Given the description of an element on the screen output the (x, y) to click on. 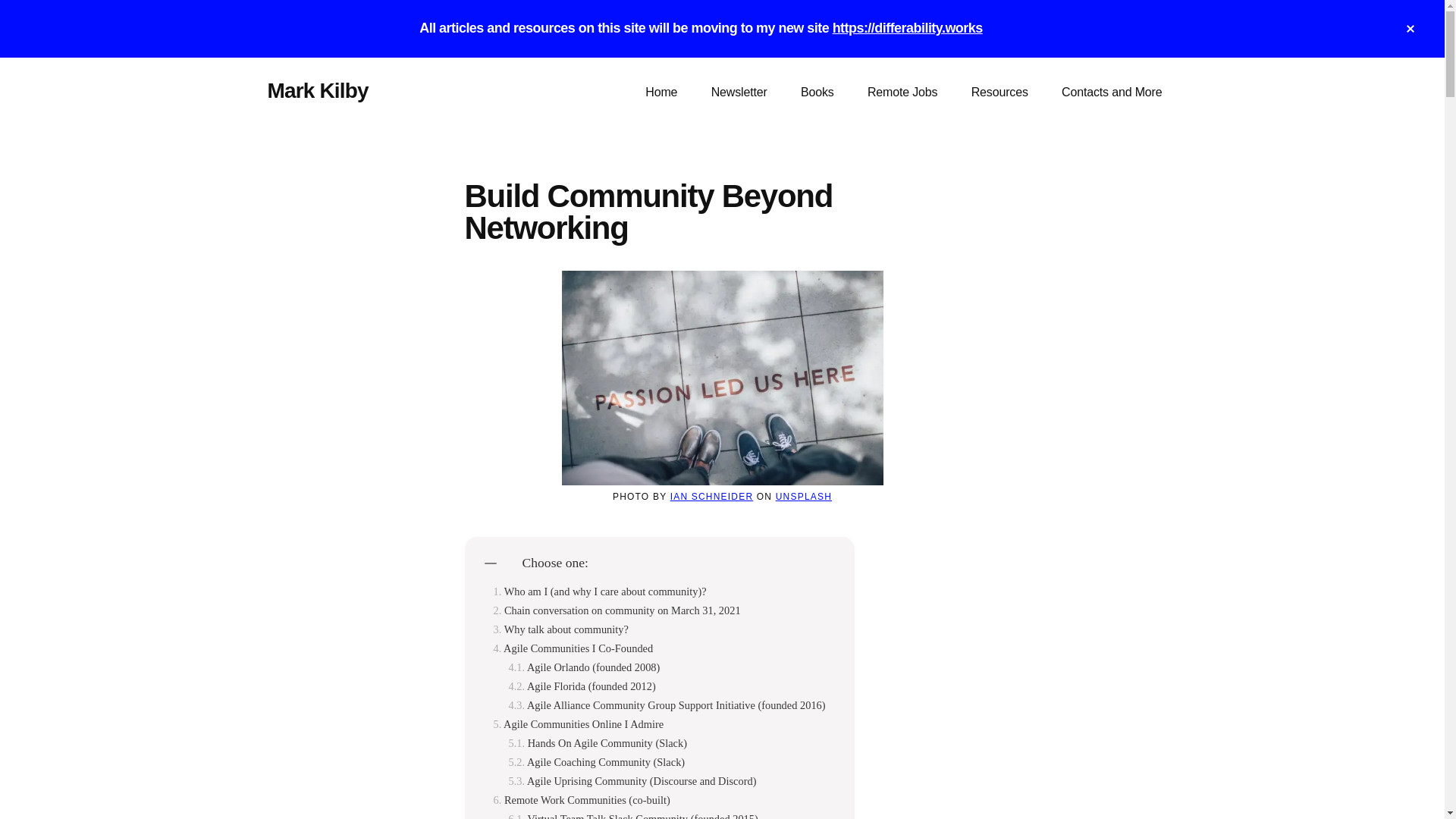
Mark Kilby (317, 90)
Resources (999, 92)
IAN SCHNEIDER (711, 496)
Why talk about community?   (560, 629)
Newsletter (739, 92)
Books (817, 92)
Contacts and More (1111, 92)
Home (661, 92)
Agile Communities I Co-Founded (572, 648)
Chain conversation on community on March 31, 2021 (616, 610)
UNSPLASH (803, 496)
Remote Jobs (902, 92)
Agile Communities Online I Admire (578, 724)
